Given the description of an element on the screen output the (x, y) to click on. 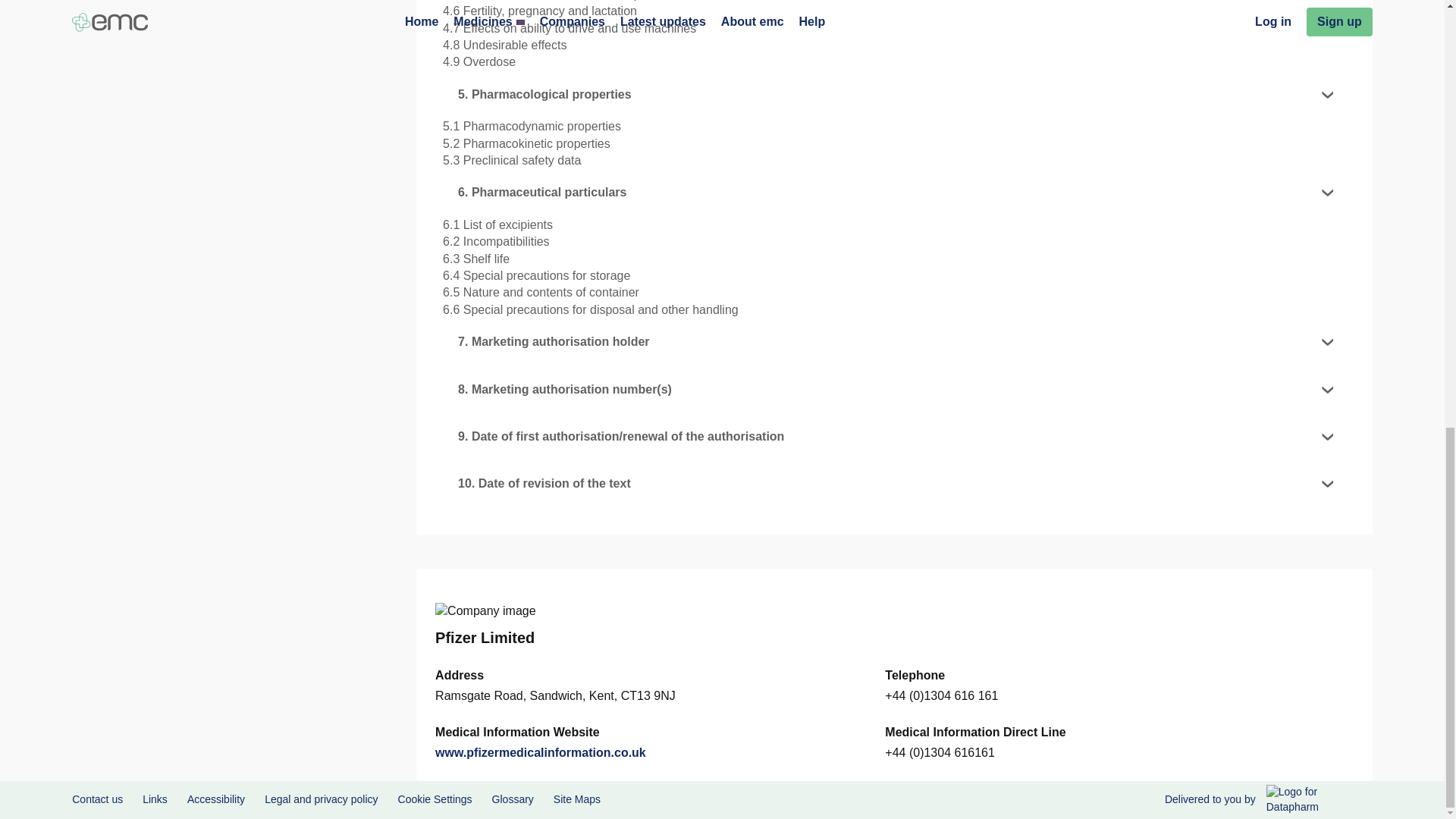
www.pfizermedicalinformation.co.uk (540, 752)
Contact us (96, 799)
